Given the description of an element on the screen output the (x, y) to click on. 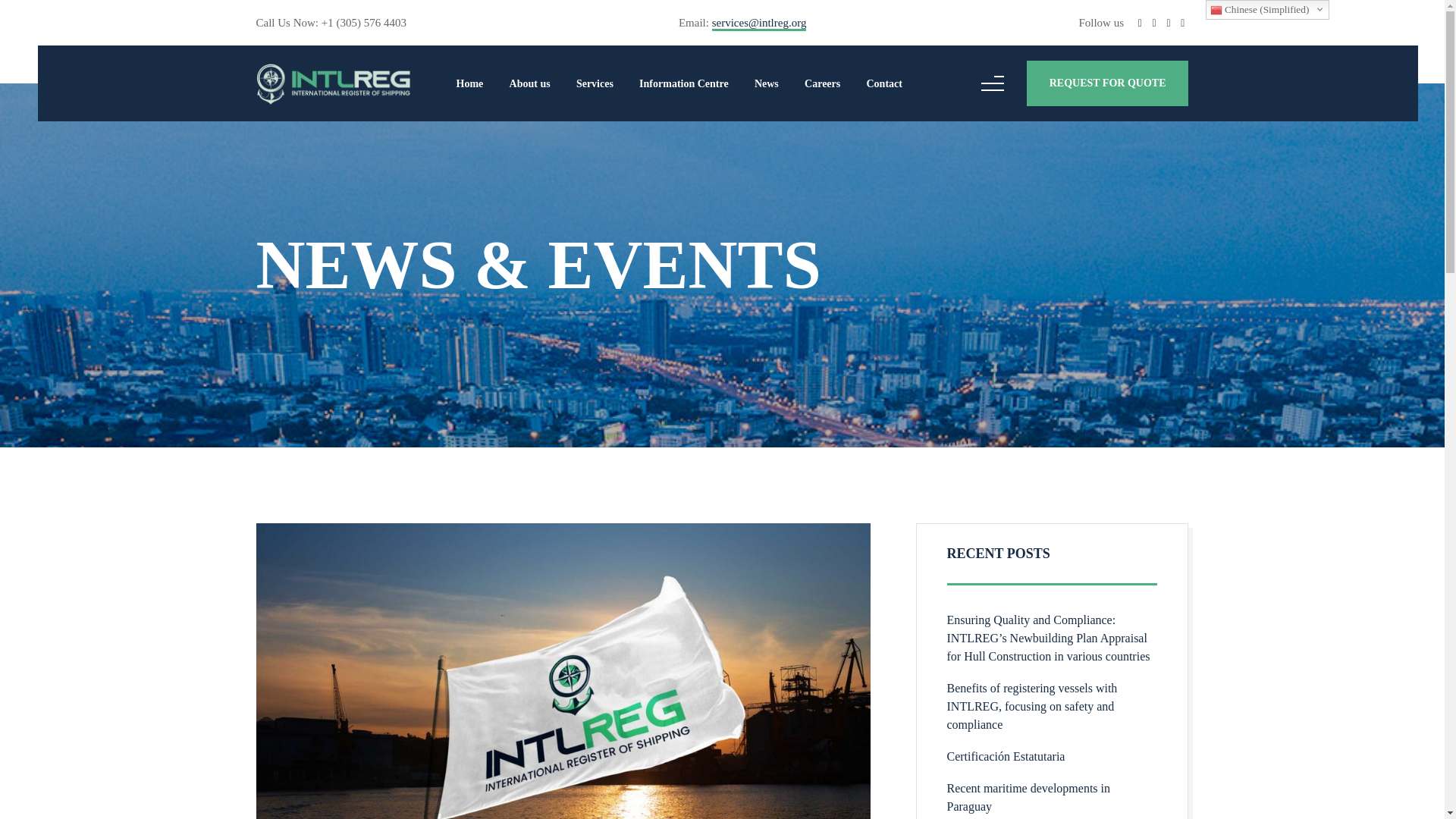
About us (529, 83)
Home (470, 83)
Services (594, 83)
